Given the description of an element on the screen output the (x, y) to click on. 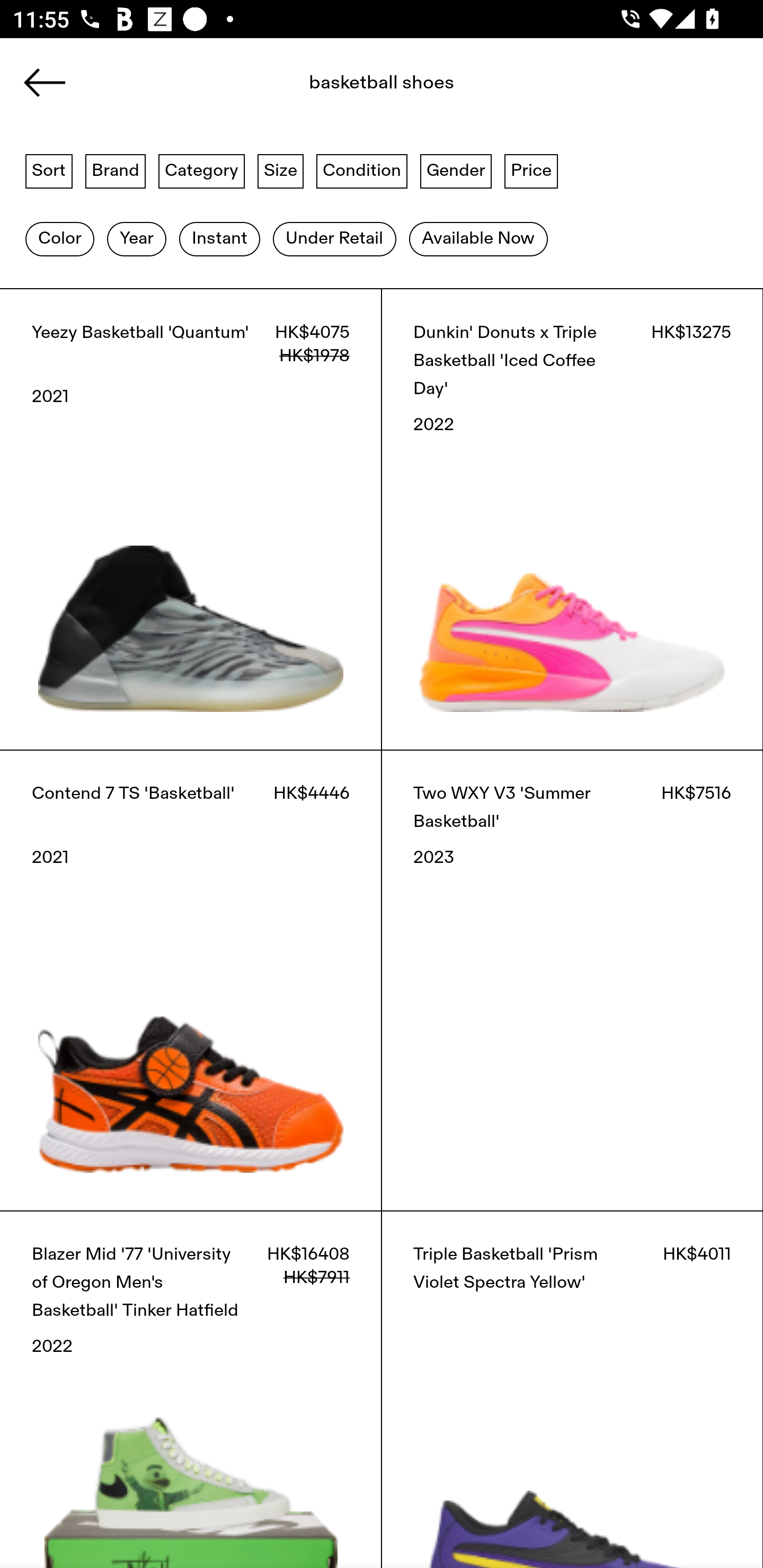
Search (340, 88)
Sort (48, 170)
Brand (115, 170)
Category (201, 170)
Size (280, 170)
Condition (361, 170)
Gender (455, 170)
Price (530, 170)
Color (59, 239)
Year (136, 239)
Instant (219, 239)
Under Retail (334, 239)
Available Now (477, 239)
Yeezy Basketball 'Quantum' HK$4075 HK$1978 2021 (190, 518)
Contend 7 TS 'Basketball' HK$4446 2021 (190, 979)
Two WXY V3 'Summer Basketball' HK$7516 2023 (572, 979)
